Given the description of an element on the screen output the (x, y) to click on. 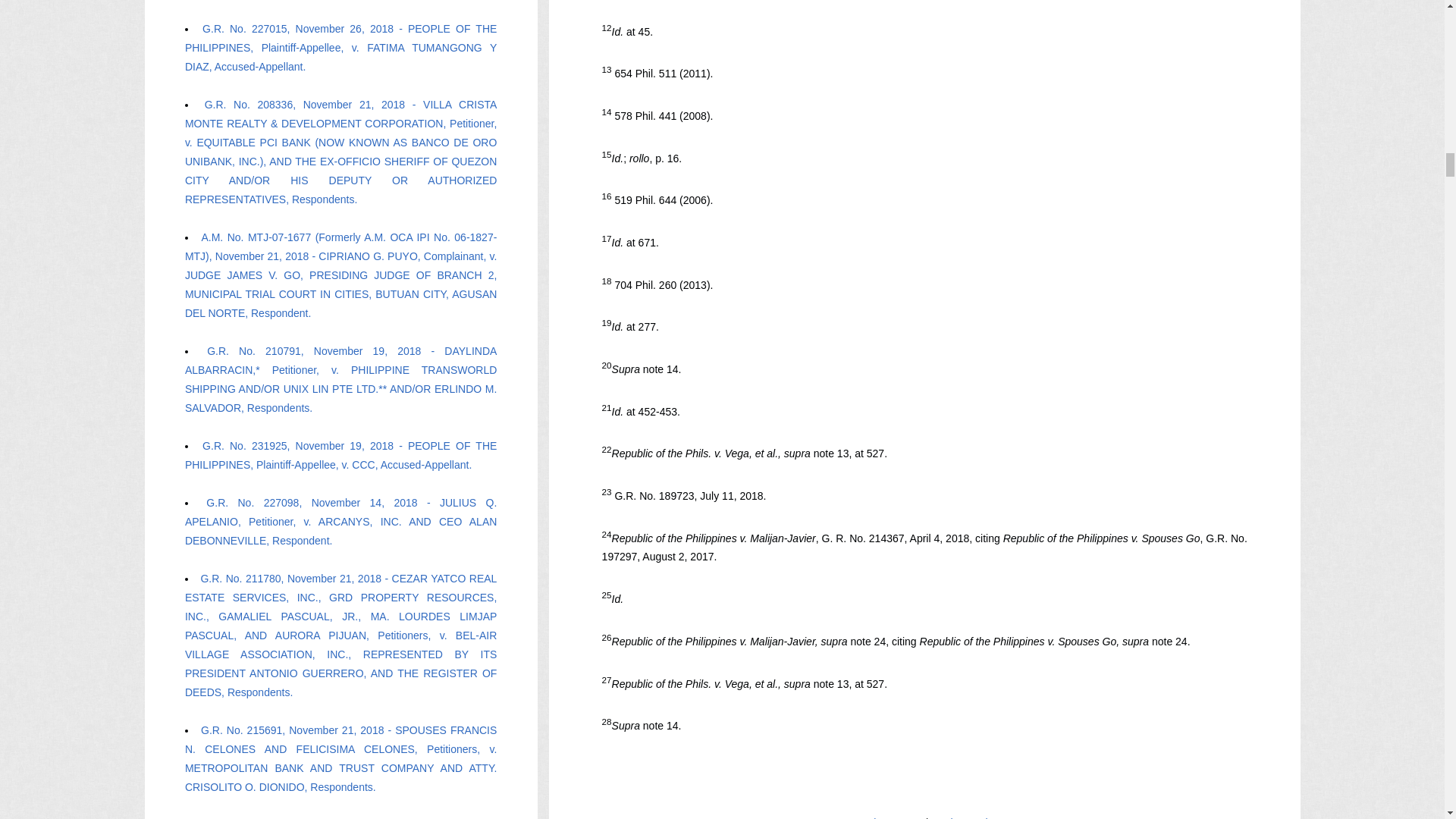
Back to Main (962, 817)
Back to Home (888, 817)
